Given the description of an element on the screen output the (x, y) to click on. 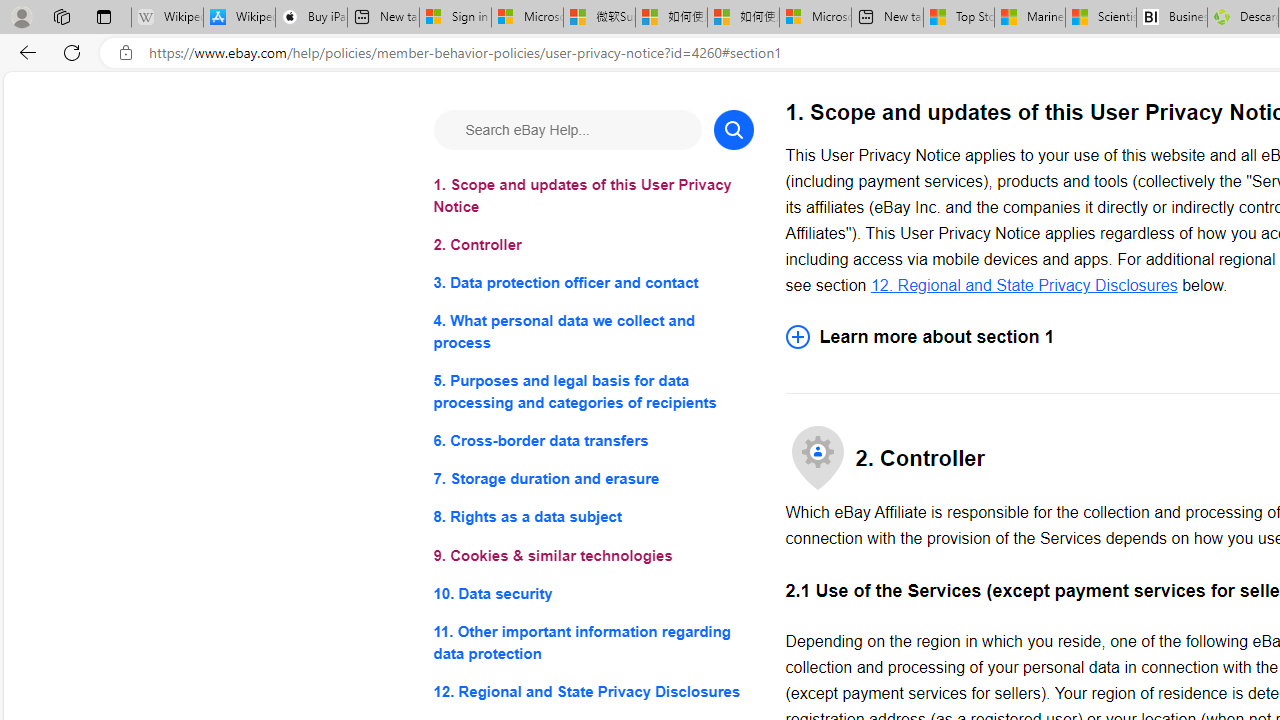
1. Scope and updates of this User Privacy Notice (592, 196)
9. Cookies & similar technologies (592, 555)
4. What personal data we collect and process (592, 332)
Search eBay Help... (566, 129)
6. Cross-border data transfers (592, 440)
11. Other important information regarding data protection (592, 642)
11. Other important information regarding data protection (592, 642)
12. Regional and State Privacy Disclosures (592, 690)
